Given the description of an element on the screen output the (x, y) to click on. 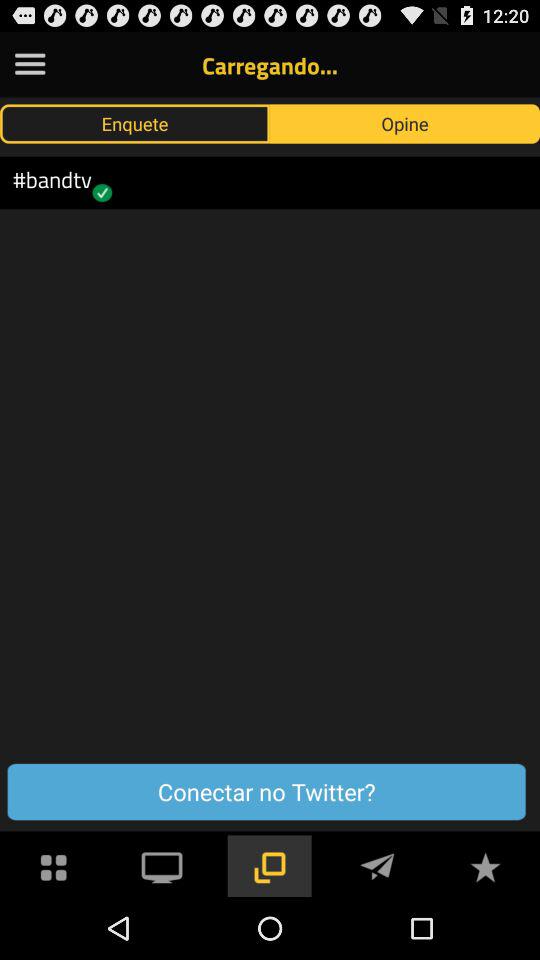
press the button above the enquete item (29, 64)
